Given the description of an element on the screen output the (x, y) to click on. 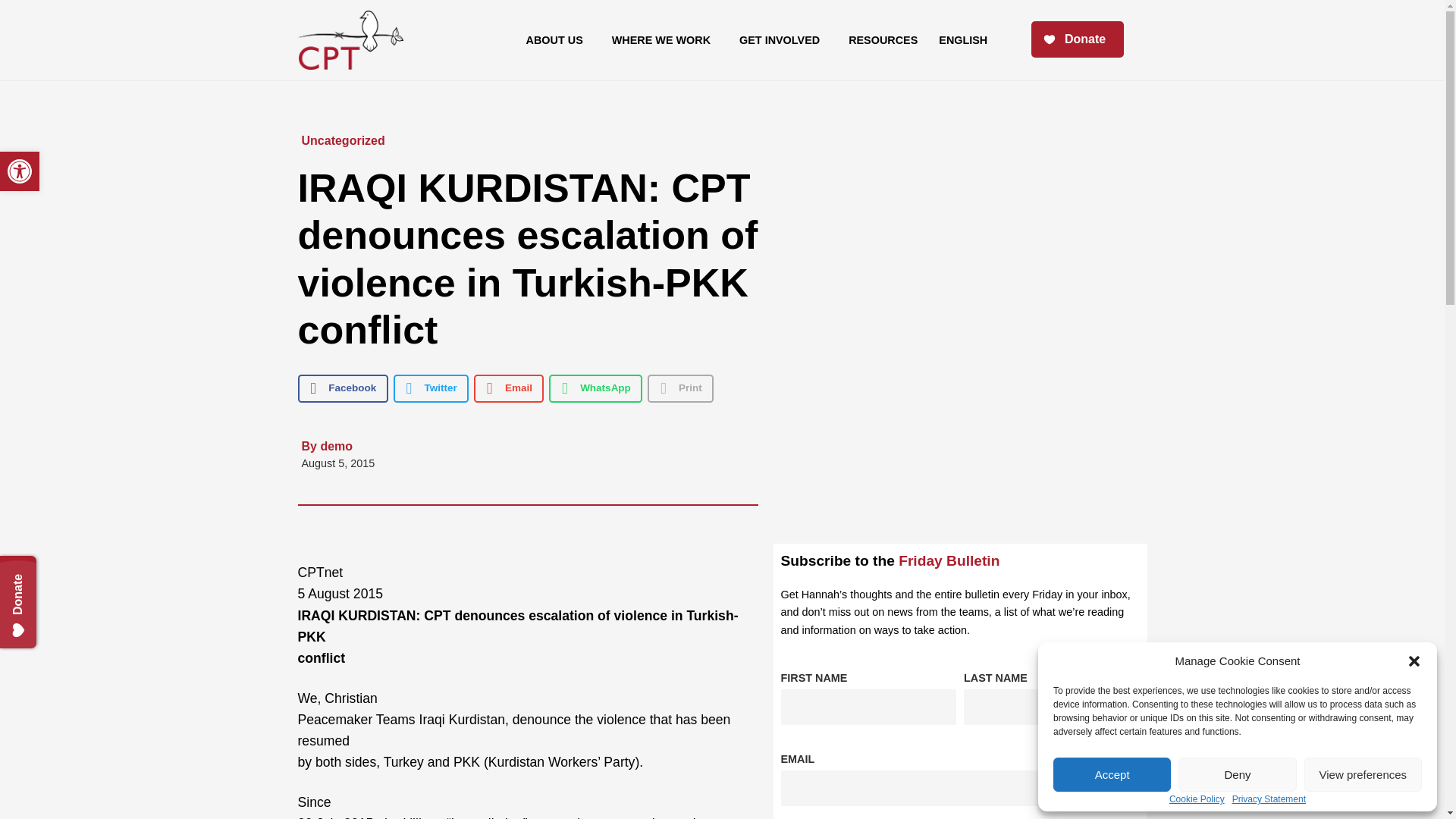
Privacy Statement (19, 170)
Accept (1236, 774)
Grayscale (1111, 774)
Accessibility Tools (1363, 774)
Persistent Donate Button (19, 170)
Light Background (48, 573)
